Given the description of an element on the screen output the (x, y) to click on. 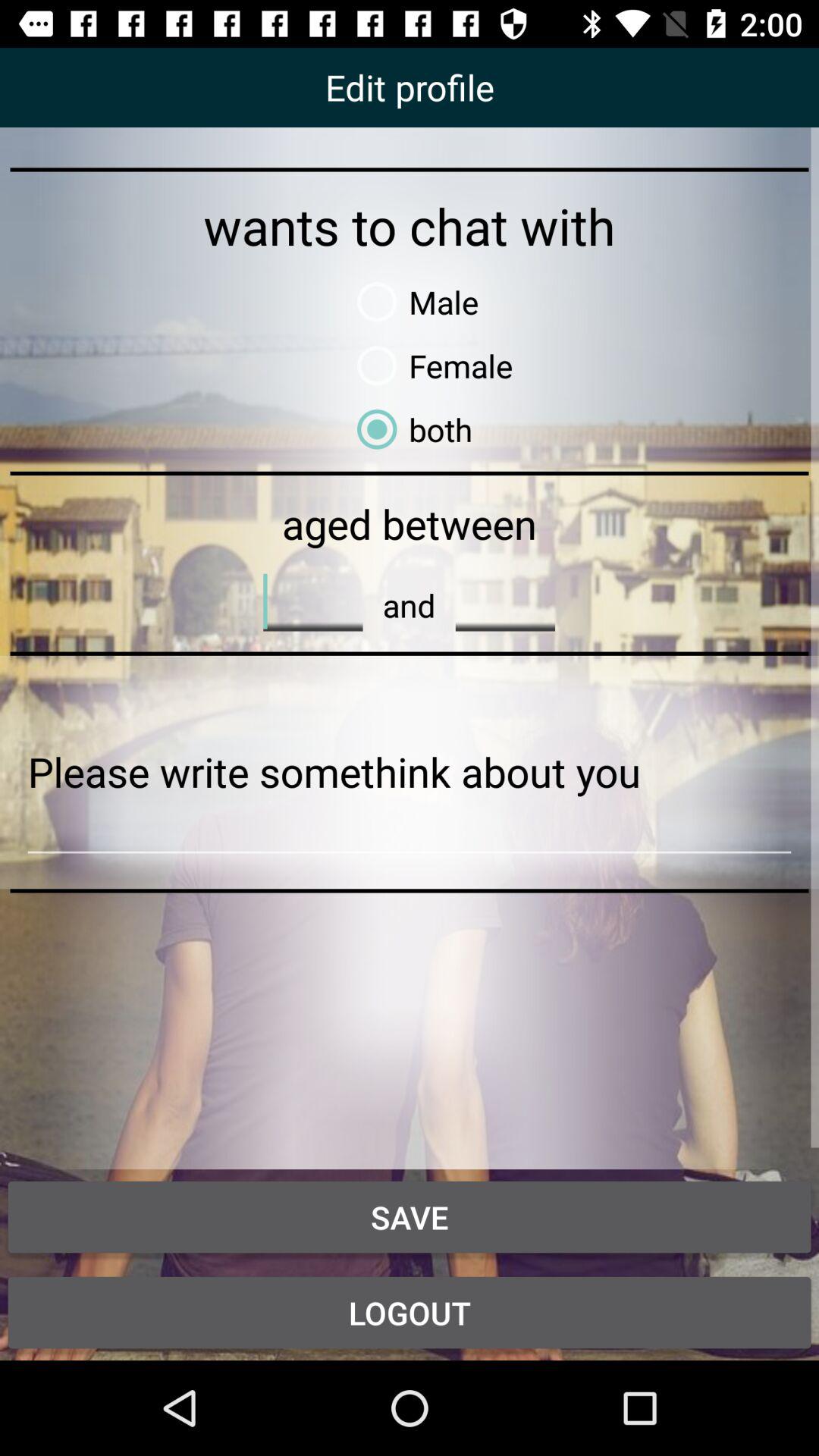
write something (409, 772)
